Given the description of an element on the screen output the (x, y) to click on. 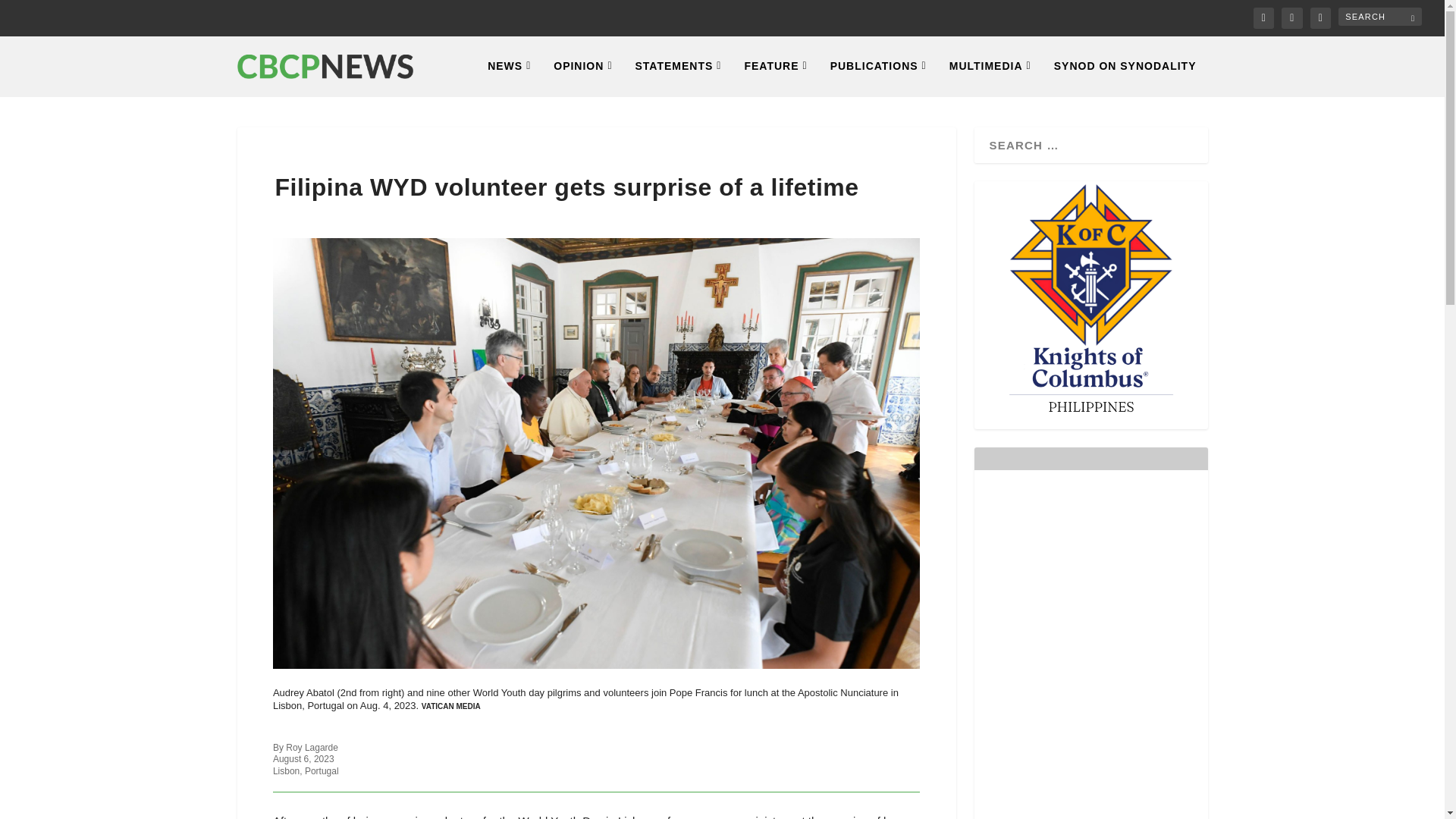
Search for: (1380, 16)
OPINION (582, 77)
FEATURE (775, 77)
PUBLICATIONS (877, 77)
STATEMENTS (678, 77)
NEWS (509, 77)
